Given the description of an element on the screen output the (x, y) to click on. 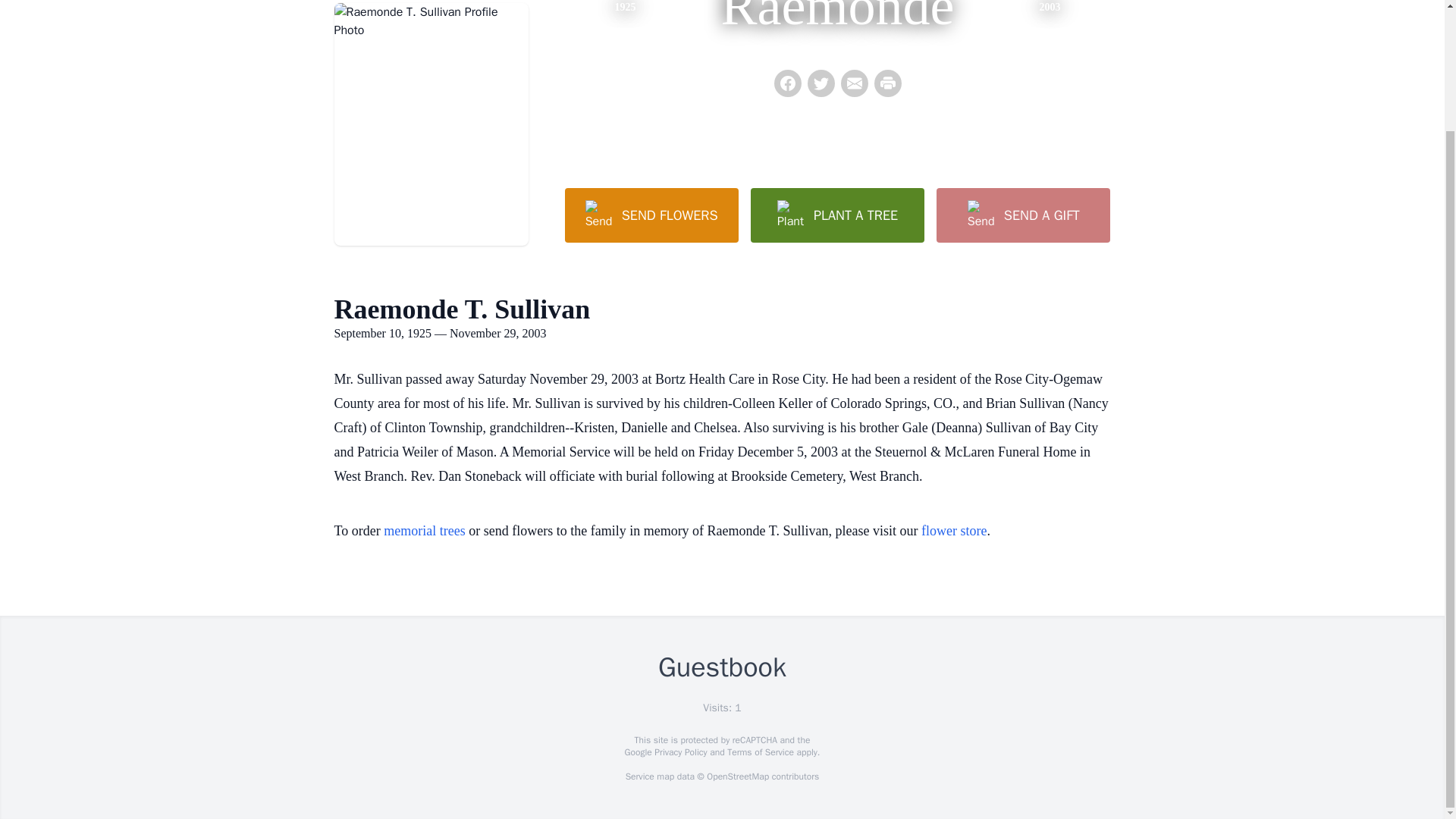
SEND FLOWERS (651, 215)
SEND A GIFT (1022, 215)
OpenStreetMap (737, 776)
PLANT A TREE (837, 215)
Privacy Policy (679, 752)
Terms of Service (759, 752)
flower store (954, 530)
memorial trees (424, 530)
